Given the description of an element on the screen output the (x, y) to click on. 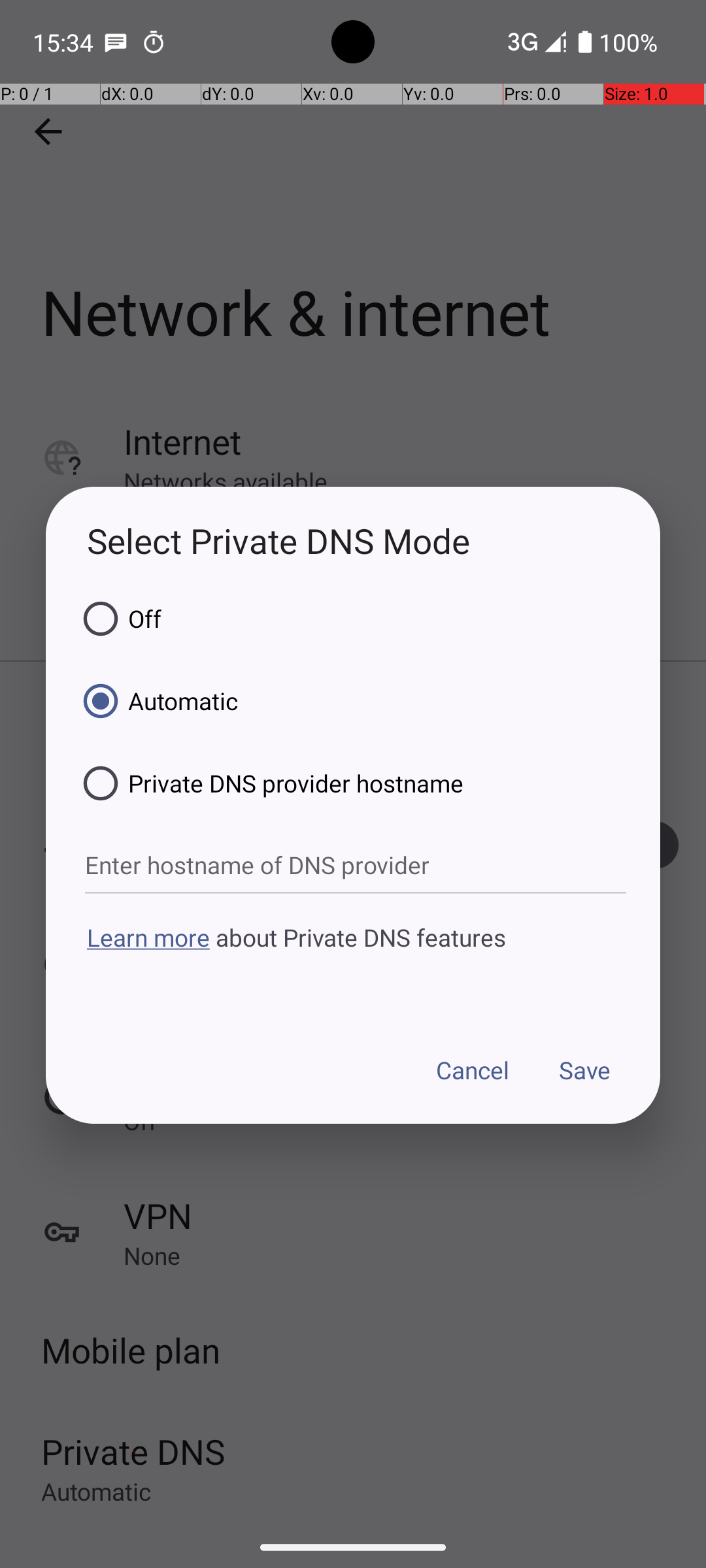
Select Private DNS Mode Element type: android.widget.TextView (352, 540)
Learn more about Private DNS features Element type: android.widget.TextView (352, 961)
Private DNS provider hostname Element type: android.widget.RadioButton (268, 783)
Enter hostname of DNS provider Element type: android.widget.EditText (355, 865)
